Given the description of an element on the screen output the (x, y) to click on. 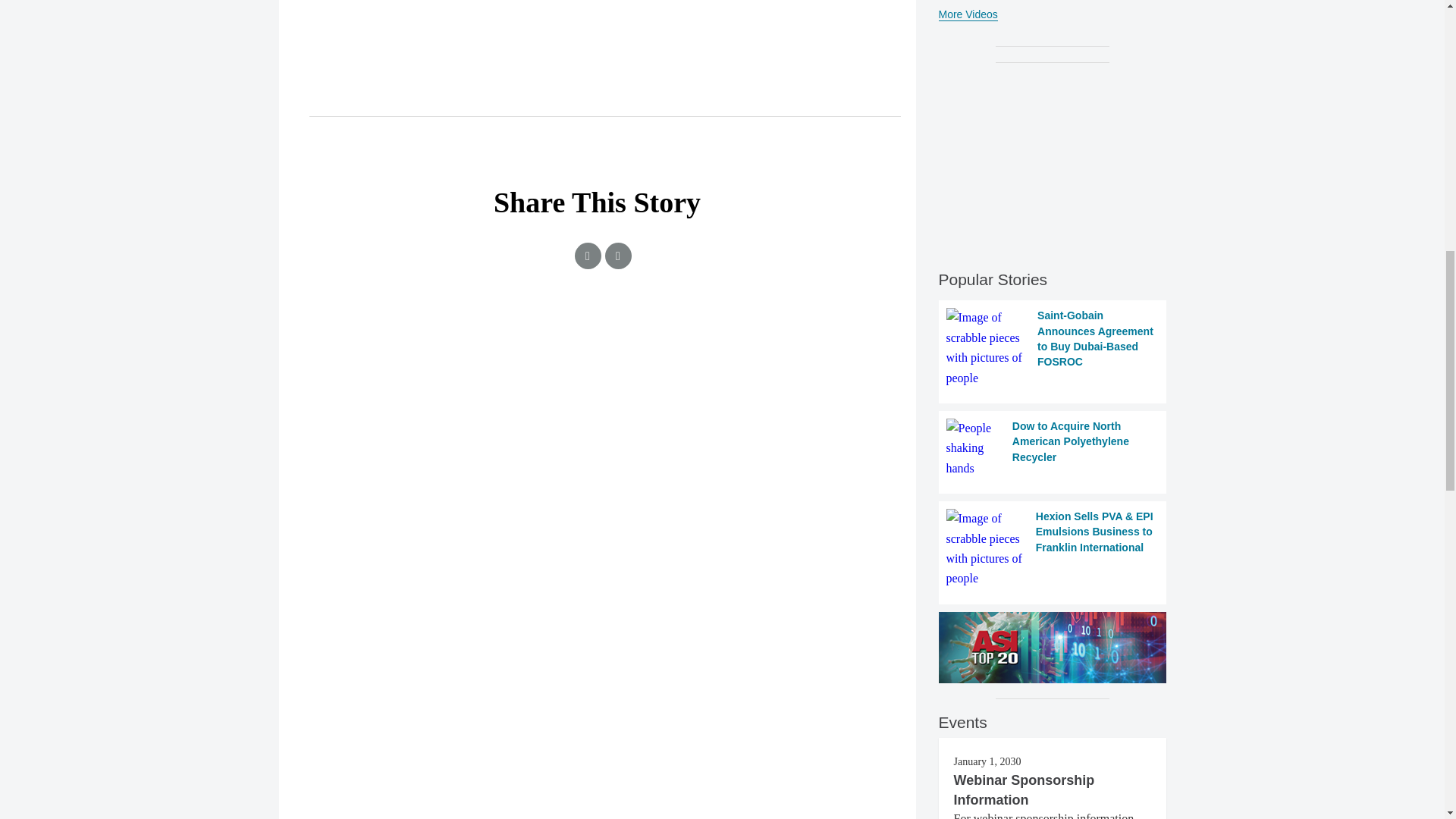
Webinar Sponsorship Information (1023, 790)
Saint-Gobain Announces Agreement to Buy Dubai-Based FOSROC (1052, 347)
Dow to Acquire North American Polyethylene Recycler (1052, 448)
